Given the description of an element on the screen output the (x, y) to click on. 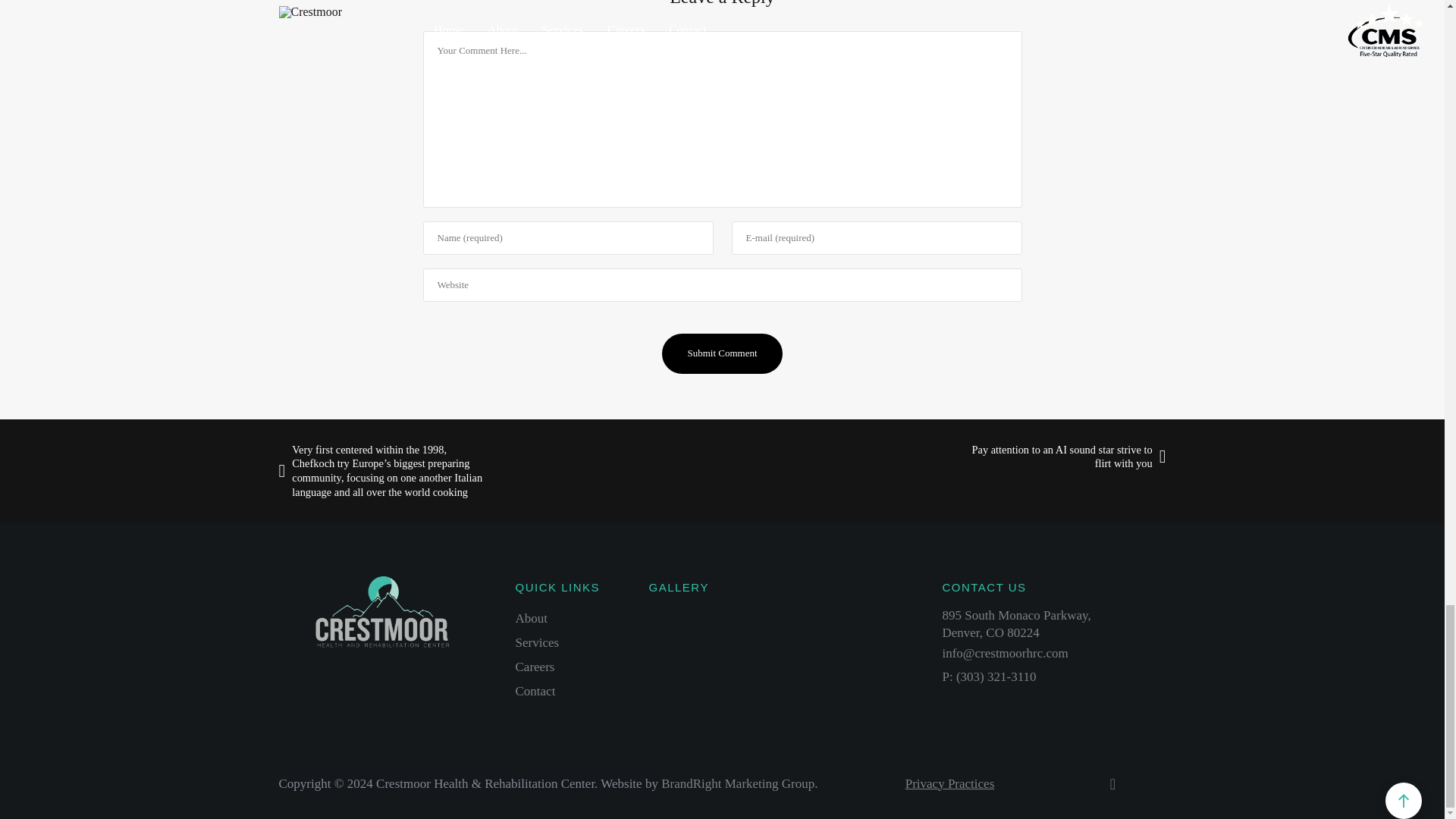
Contact (535, 690)
Submit Comment (722, 353)
BrandRight Marketing Group (737, 783)
Careers (534, 667)
Submit Comment (722, 353)
Pay attention to an AI sound star strive to flirt with you (1054, 456)
About (1016, 623)
Privacy Practices (531, 617)
Facebook (949, 783)
Services (1113, 785)
